Given the description of an element on the screen output the (x, y) to click on. 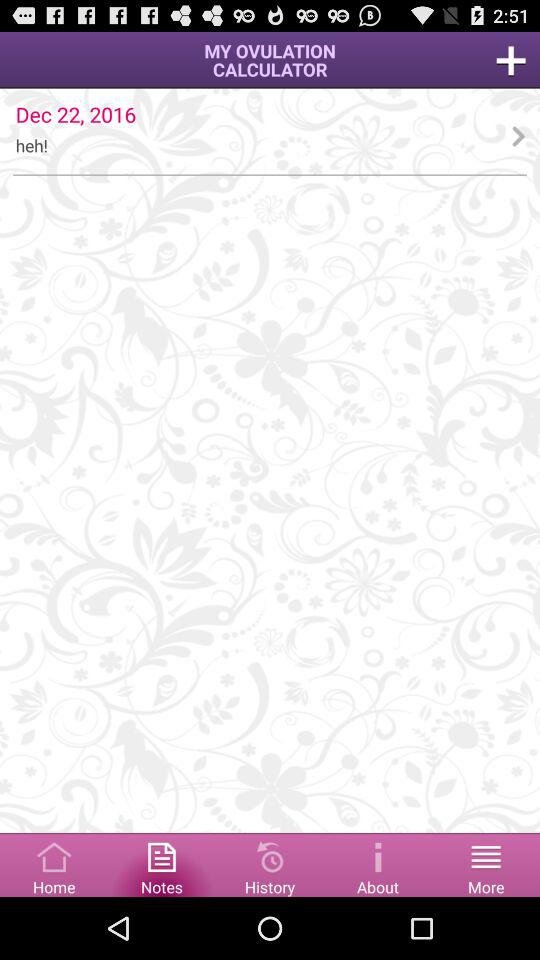
see more options (486, 864)
